Given the description of an element on the screen output the (x, y) to click on. 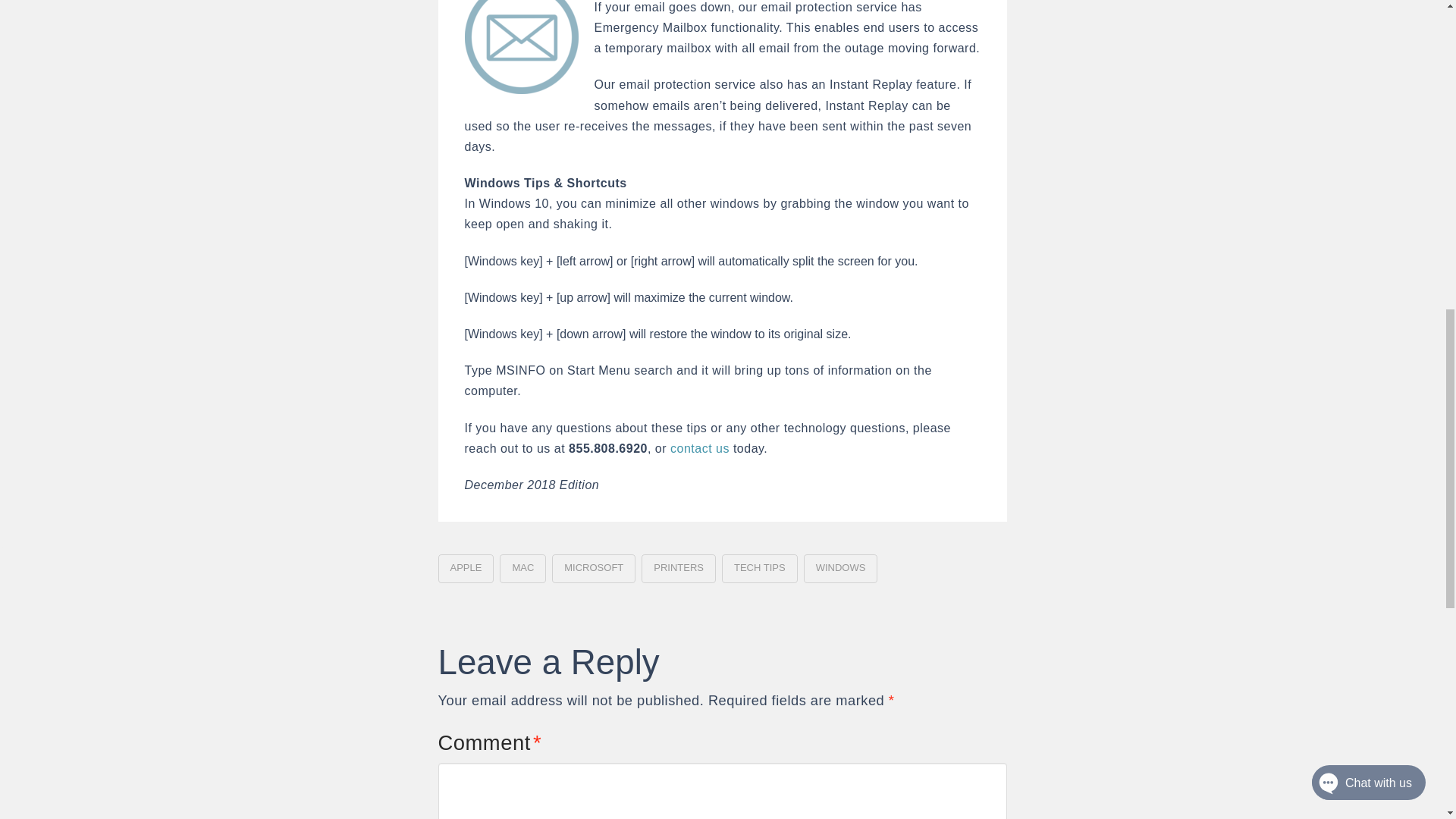
MAC (522, 568)
TECH TIPS (759, 568)
MICROSOFT (592, 568)
PRINTERS (679, 568)
contact us (699, 448)
WINDOWS (840, 568)
APPLE (466, 568)
